Given the description of an element on the screen output the (x, y) to click on. 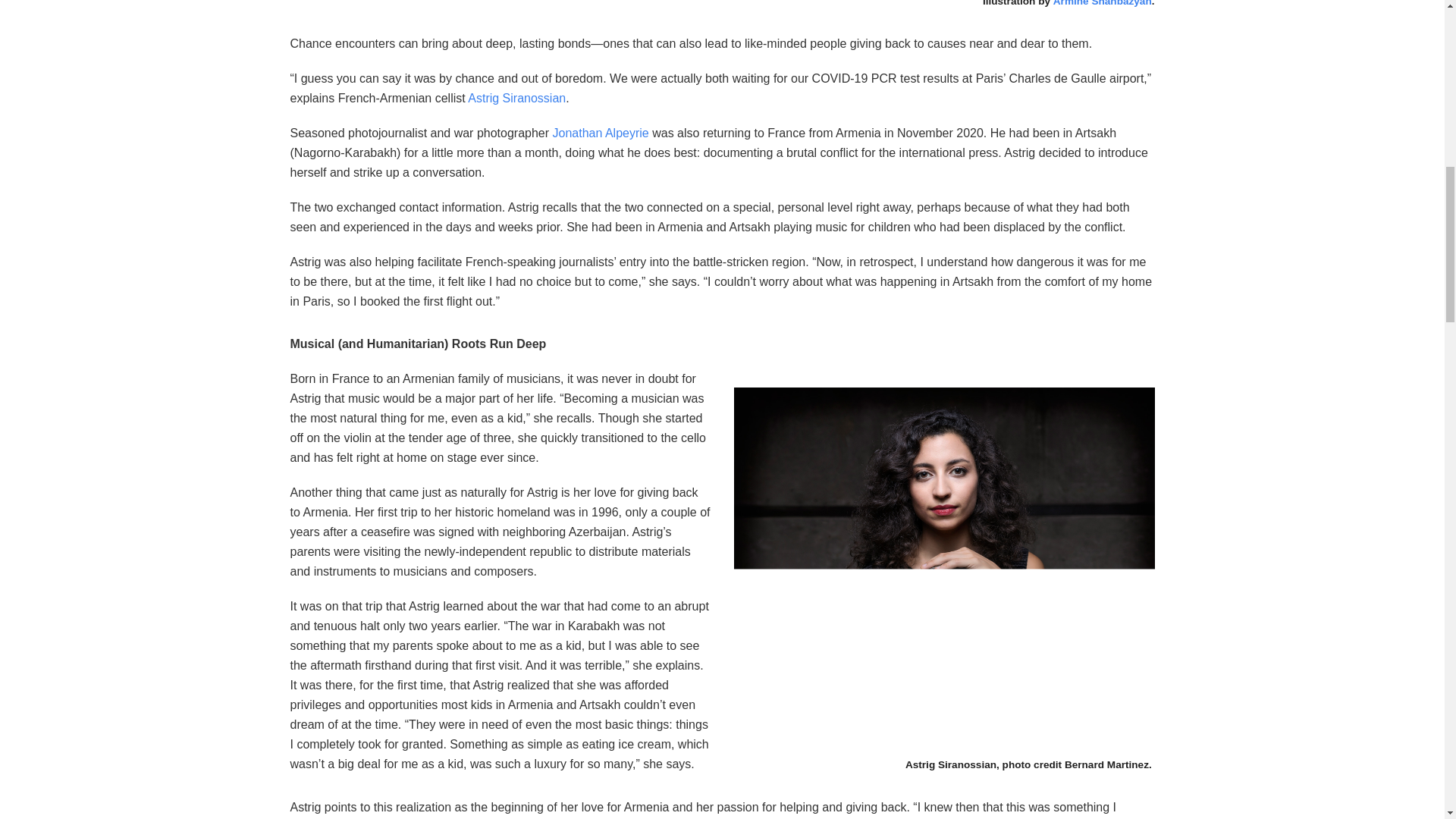
Armine Shahbazyan (1100, 3)
Jonathan Alpeyrie (601, 132)
Astrig Siranossian (516, 97)
